Given the description of an element on the screen output the (x, y) to click on. 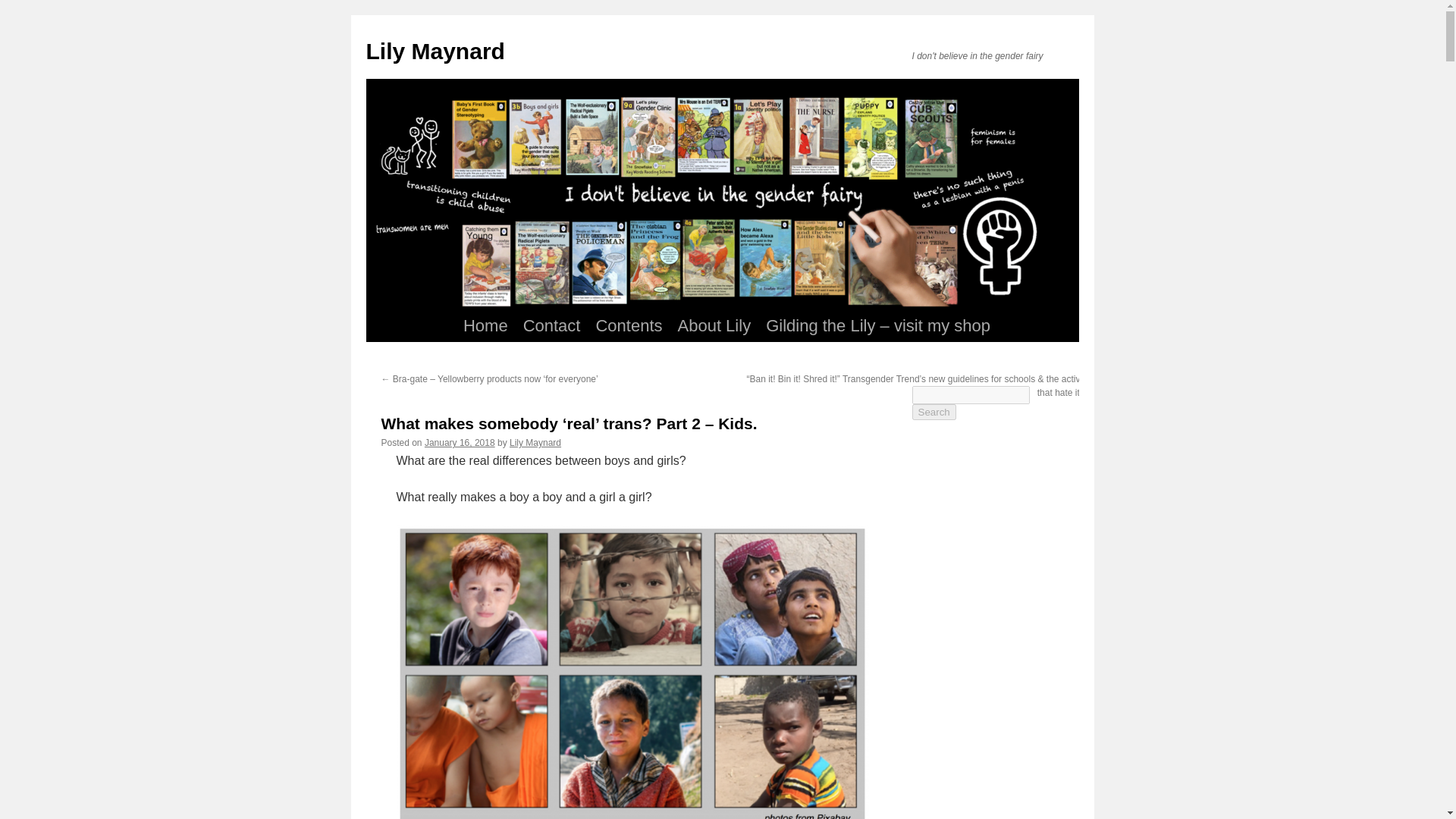
About Lily (713, 326)
Home (485, 326)
Contents (628, 326)
Contact (551, 326)
Lily Maynard (434, 50)
Lily Maynard (534, 442)
View all posts by Lily Maynard (534, 442)
1:57 am (460, 442)
January 16, 2018 (460, 442)
